Given the description of an element on the screen output the (x, y) to click on. 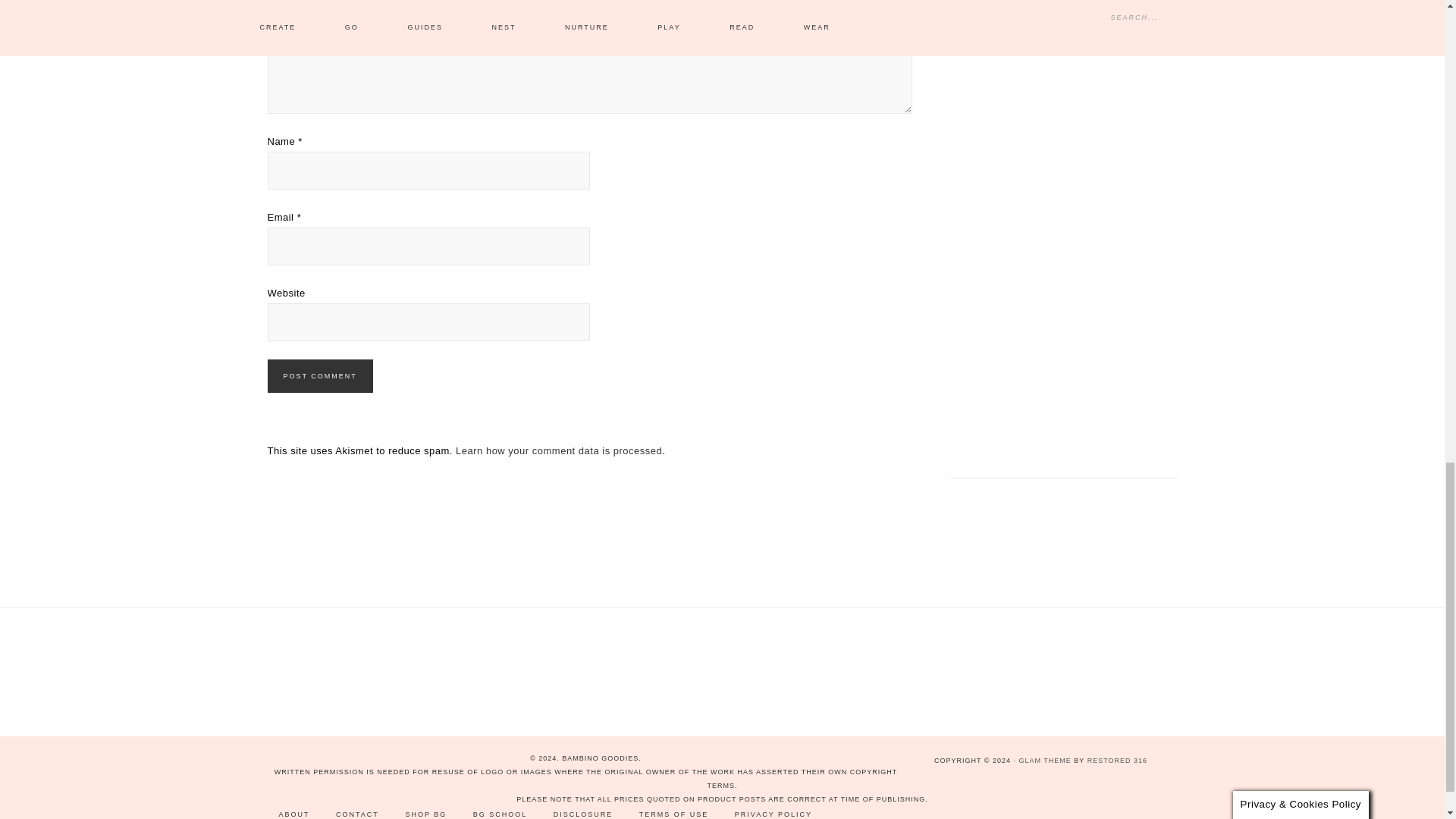
Post Comment (319, 376)
